Given the description of an element on the screen output the (x, y) to click on. 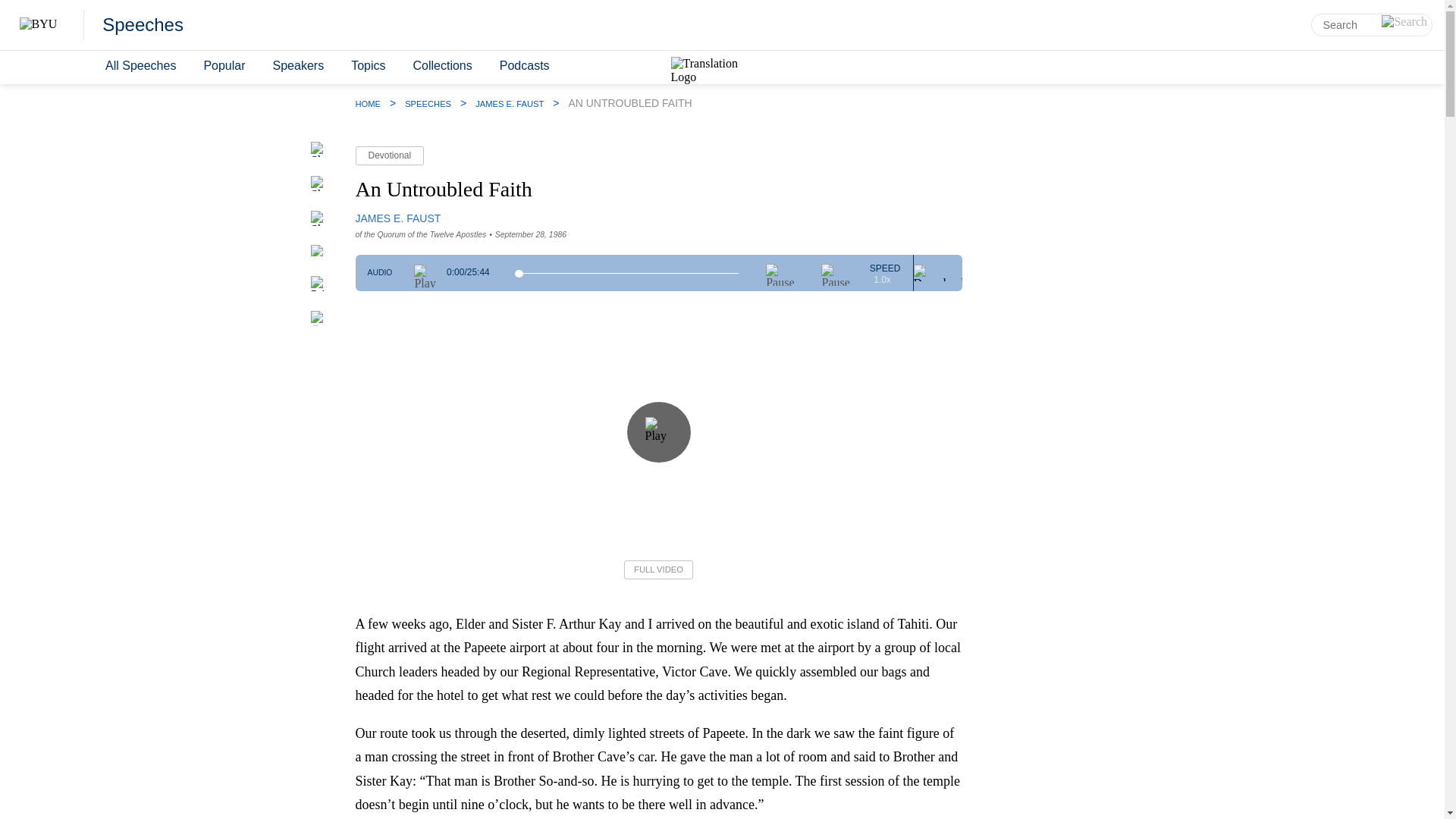
Podcasts (524, 65)
Speeches (142, 25)
Popular (223, 65)
All Speeches (140, 65)
Speakers (298, 65)
Devotional (389, 155)
HOME (367, 103)
Collections (441, 65)
SPEECHES (427, 103)
JAMES E. FAUST (509, 103)
JAMES E. FAUST (398, 218)
Topics (368, 65)
